Given the description of an element on the screen output the (x, y) to click on. 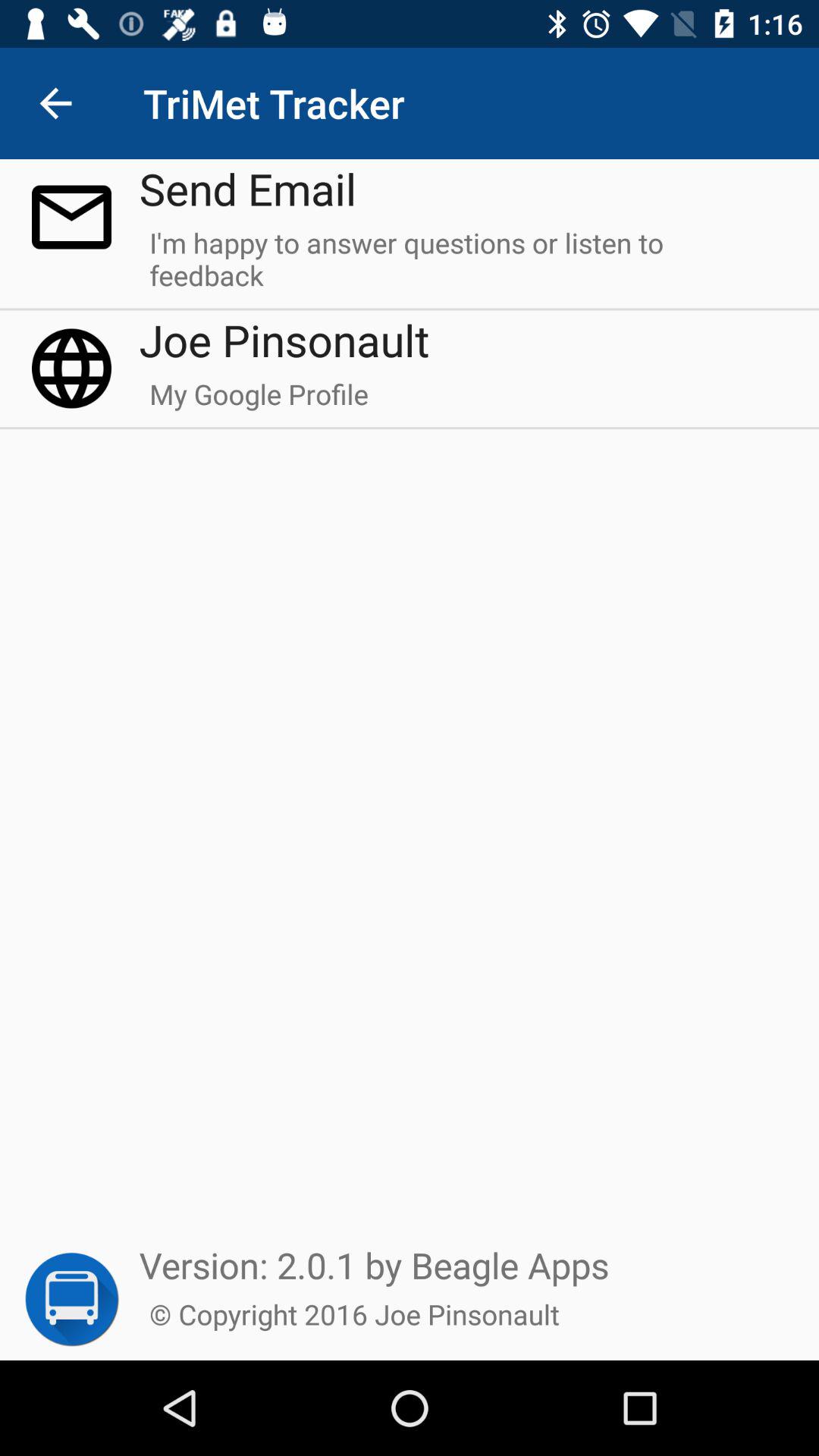
click the icon below the send email item (464, 266)
